Given the description of an element on the screen output the (x, y) to click on. 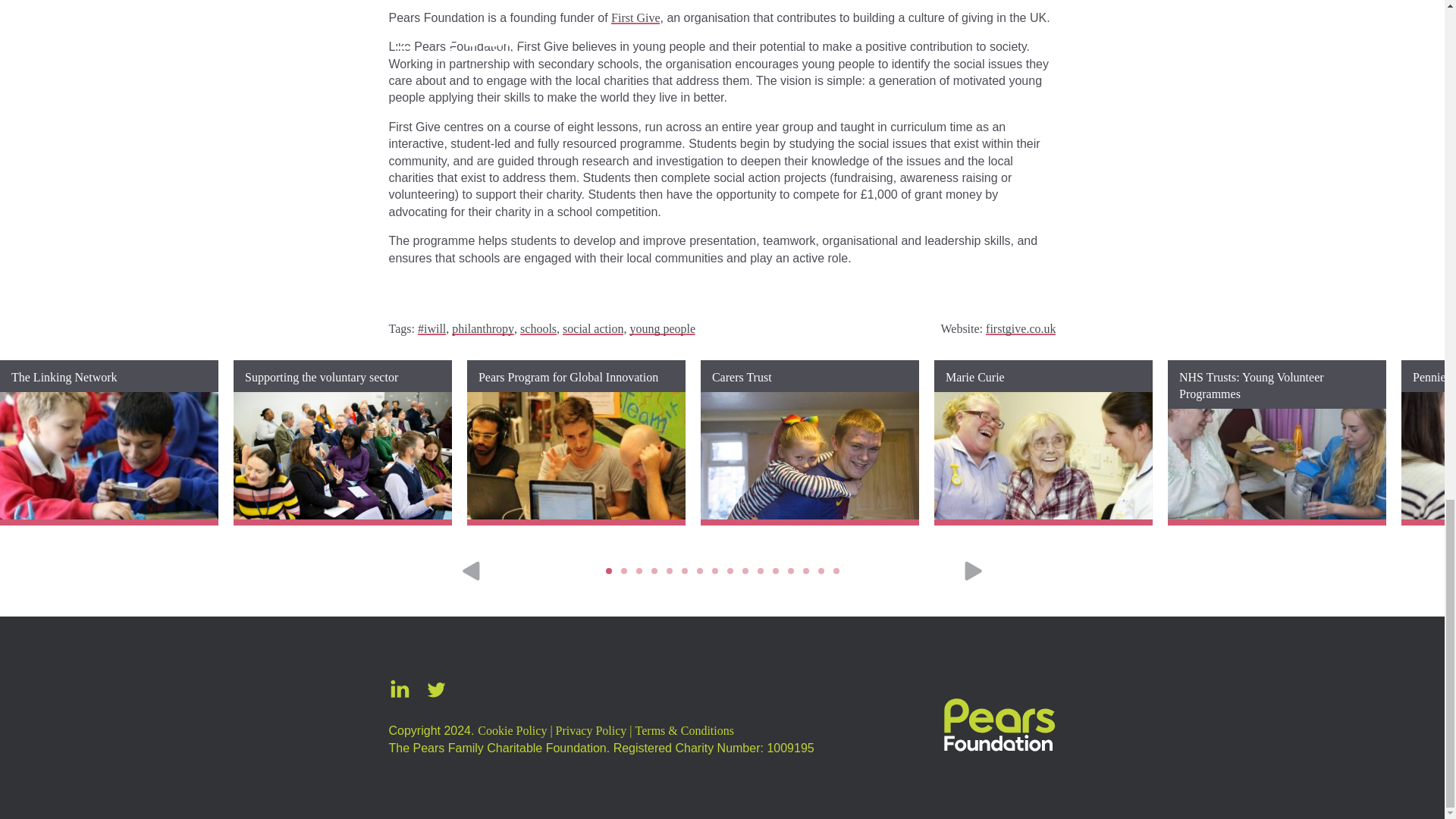
Marie Curie (1043, 442)
The Linking Network (109, 442)
Supporting the voluntary sector (341, 442)
First Give (635, 17)
firstgive.co.uk (1020, 328)
NHS Trusts: Young Volunteer Programmes (1276, 442)
schools (537, 328)
Carers Trust (809, 442)
Pears Program for Global Innovation (576, 442)
philanthropy (482, 328)
social action (592, 328)
young people (661, 328)
